Given the description of an element on the screen output the (x, y) to click on. 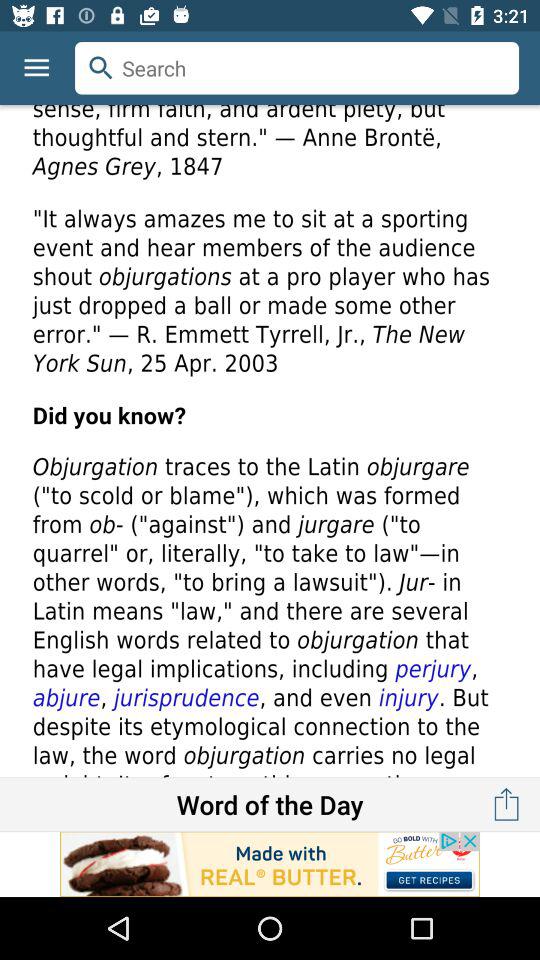
read advertisement (270, 864)
